Given the description of an element on the screen output the (x, y) to click on. 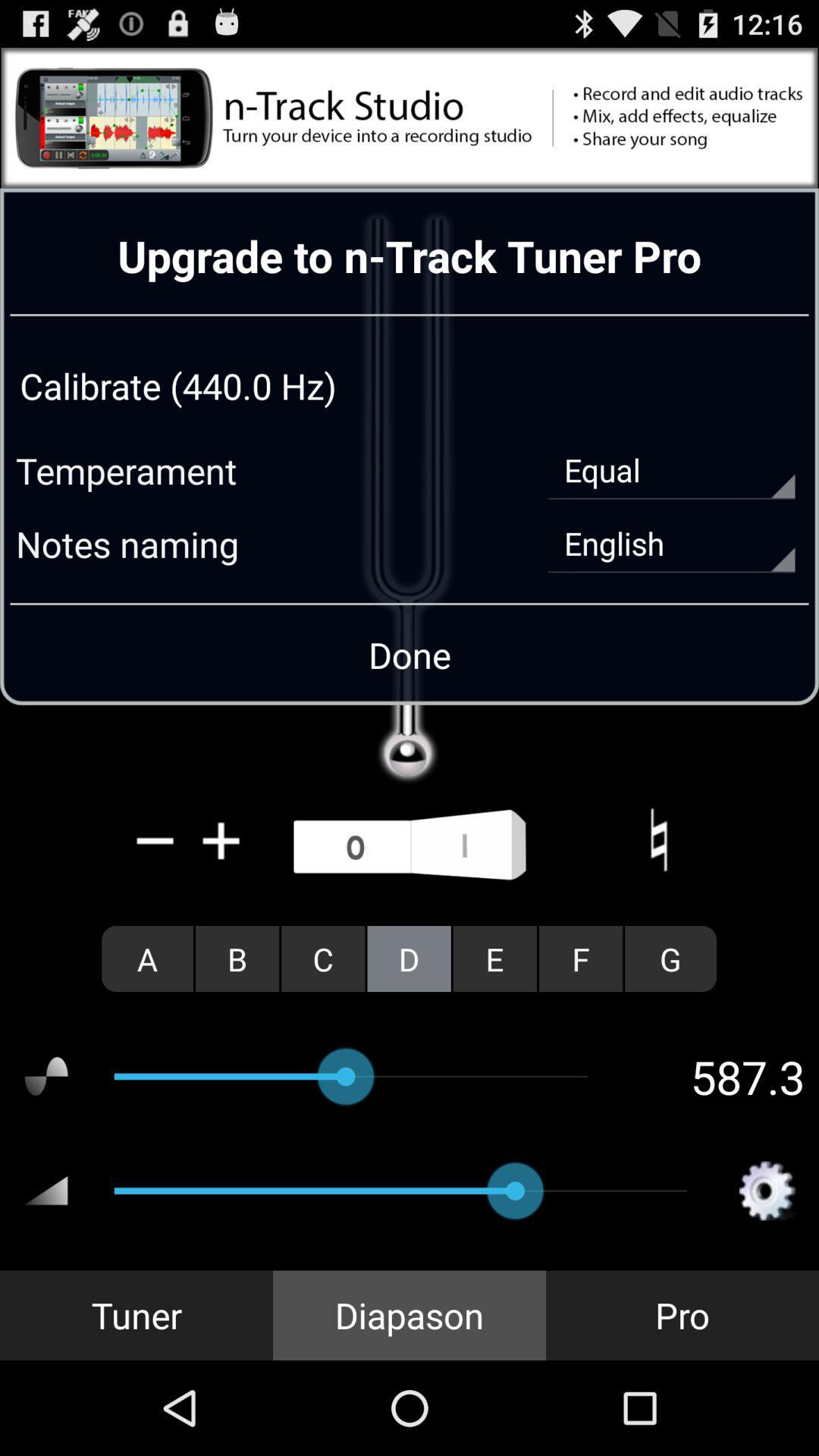
click the icon to the left of c radio button (237, 958)
